Given the description of an element on the screen output the (x, y) to click on. 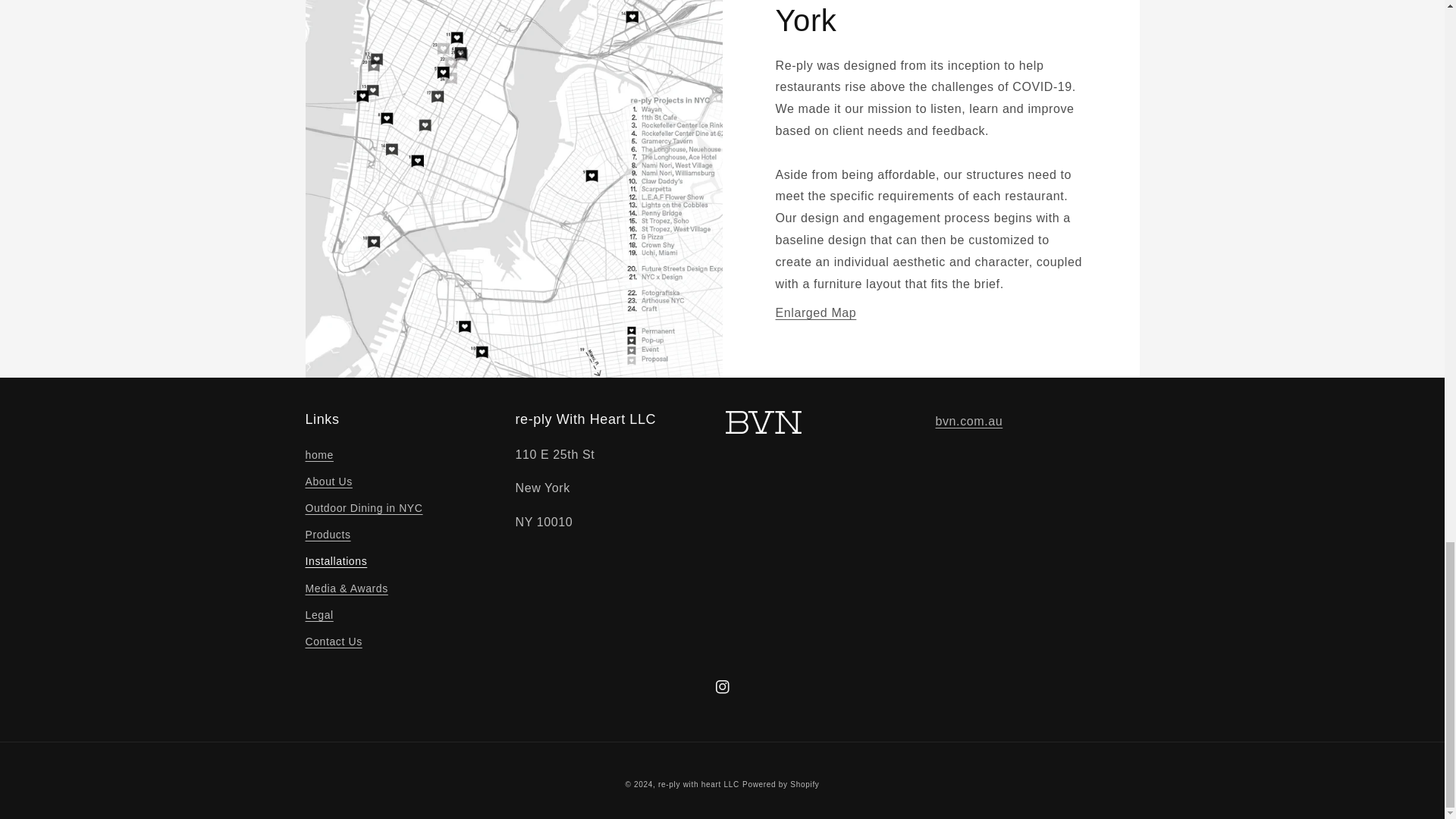
Enlarged Map (815, 312)
